Given the description of an element on the screen output the (x, y) to click on. 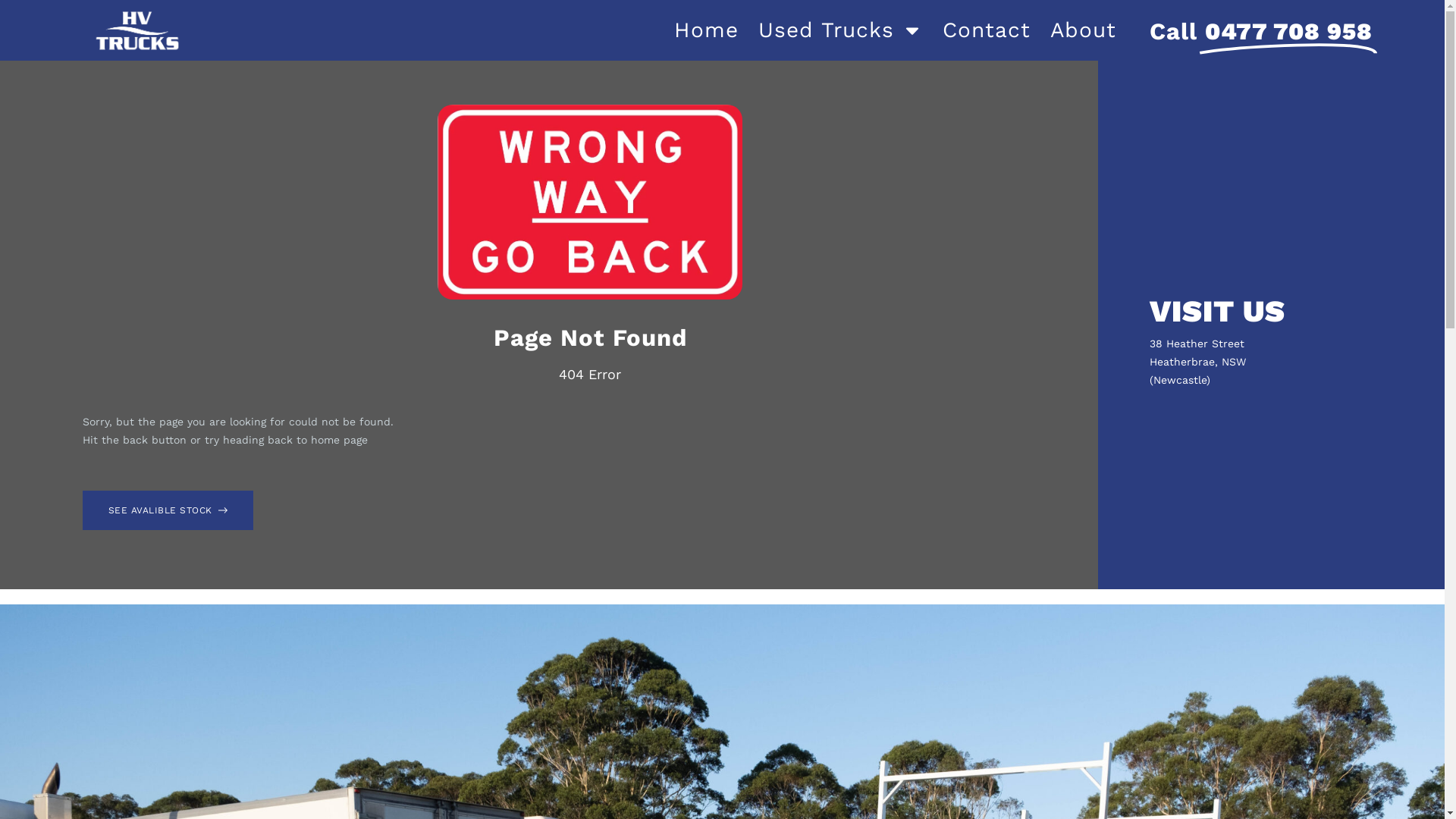
Call 0477 708 958 Element type: text (1260, 30)
About Element type: text (1082, 29)
Used Trucks Element type: text (840, 29)
Contact Element type: text (986, 29)
SEE AVALIBLE STOCK Element type: text (167, 510)
Home Element type: text (706, 29)
